Given the description of an element on the screen output the (x, y) to click on. 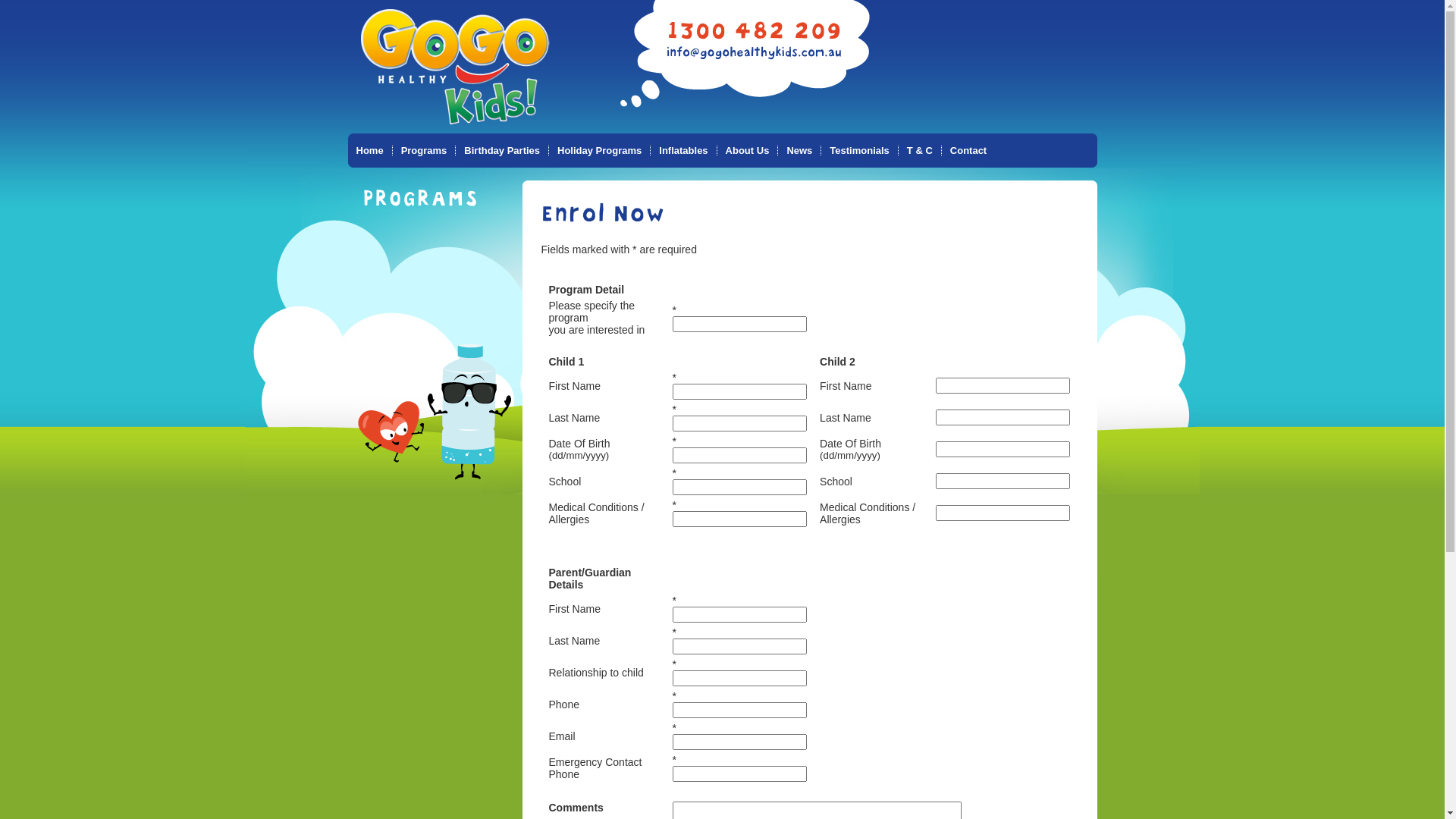
News Element type: text (798, 150)
Inflatables Element type: text (682, 150)
Testimonials Element type: text (858, 150)
Home Element type: text (369, 150)
Birthday Parties Element type: text (501, 150)
Programs Element type: text (423, 150)
About Us Element type: text (747, 150)
Holiday Programs Element type: text (598, 150)
T & C Element type: text (919, 150)
Contact Element type: text (967, 150)
